Given the description of an element on the screen output the (x, y) to click on. 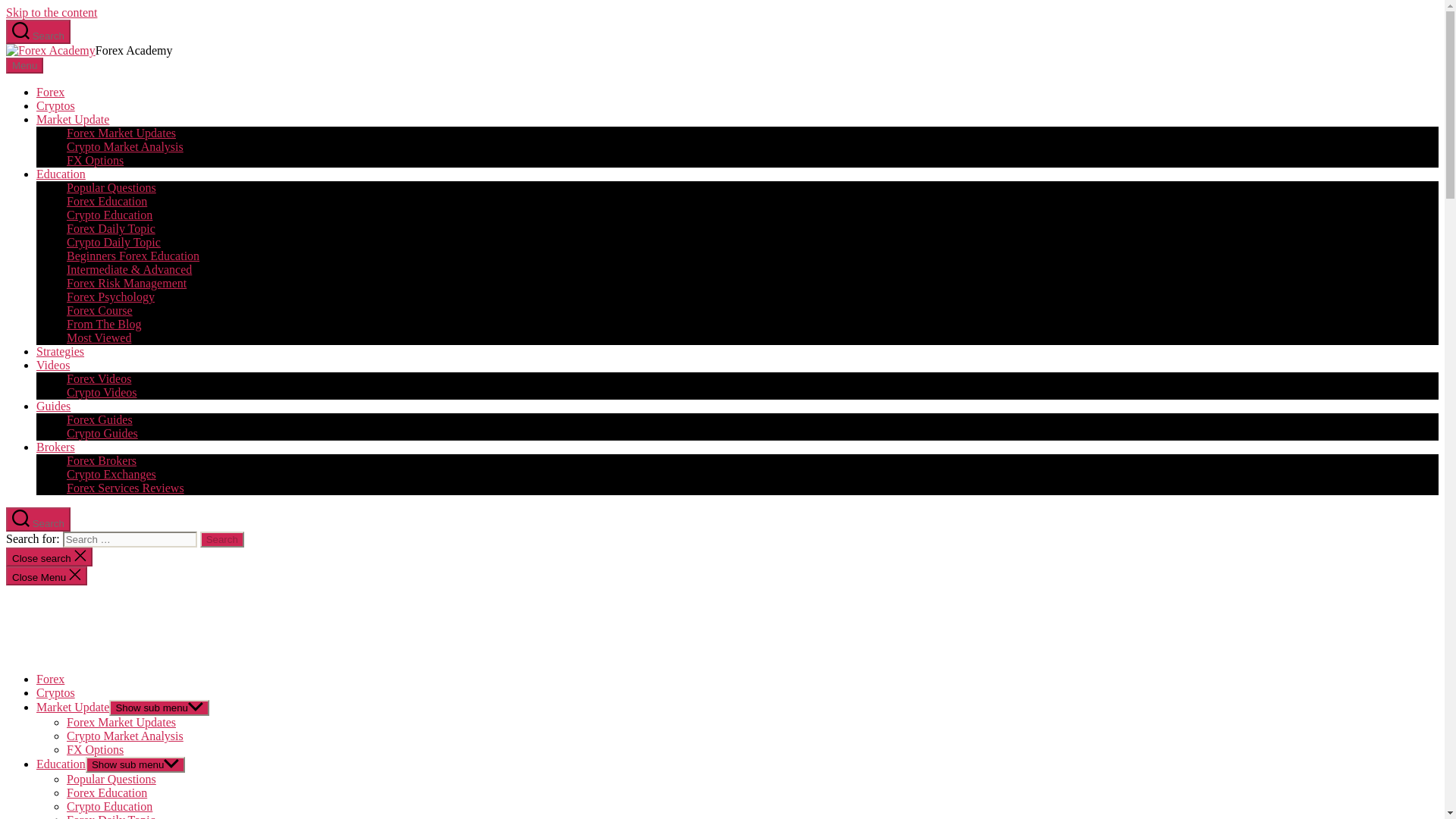
Forex Videos (98, 378)
Guides (52, 405)
Market Update (72, 119)
Popular Questions (110, 187)
Search (222, 539)
Most Viewed (98, 337)
Skip to the content (51, 11)
Forex Market Updates (121, 132)
Forex Course (99, 309)
Forex (50, 678)
